Given the description of an element on the screen output the (x, y) to click on. 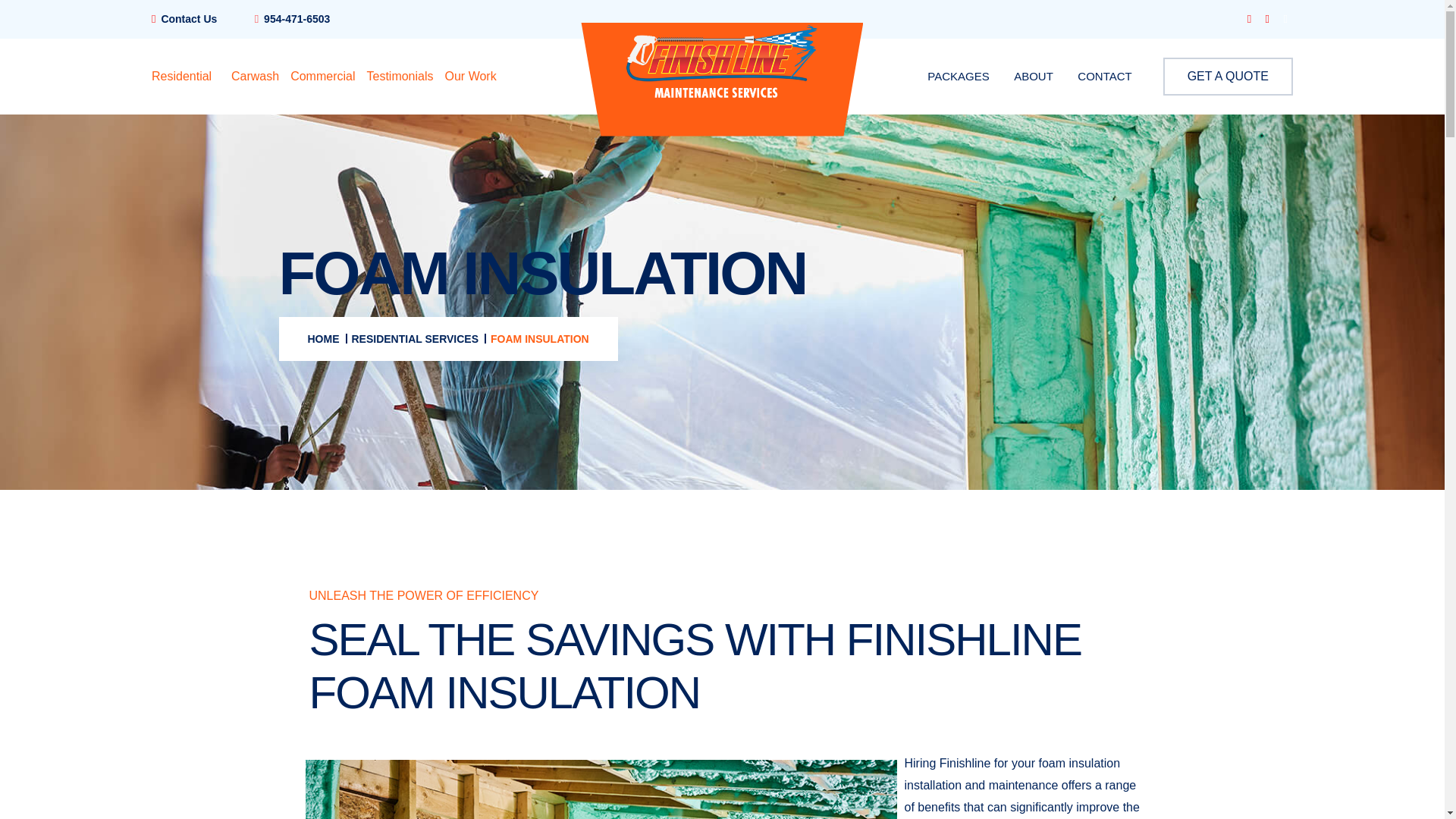
Testimonials (399, 75)
Residential (185, 76)
Our Work (470, 75)
954-471-6503 (296, 19)
Carwash (255, 75)
Contact Us (188, 19)
Commercial (322, 75)
